Given the description of an element on the screen output the (x, y) to click on. 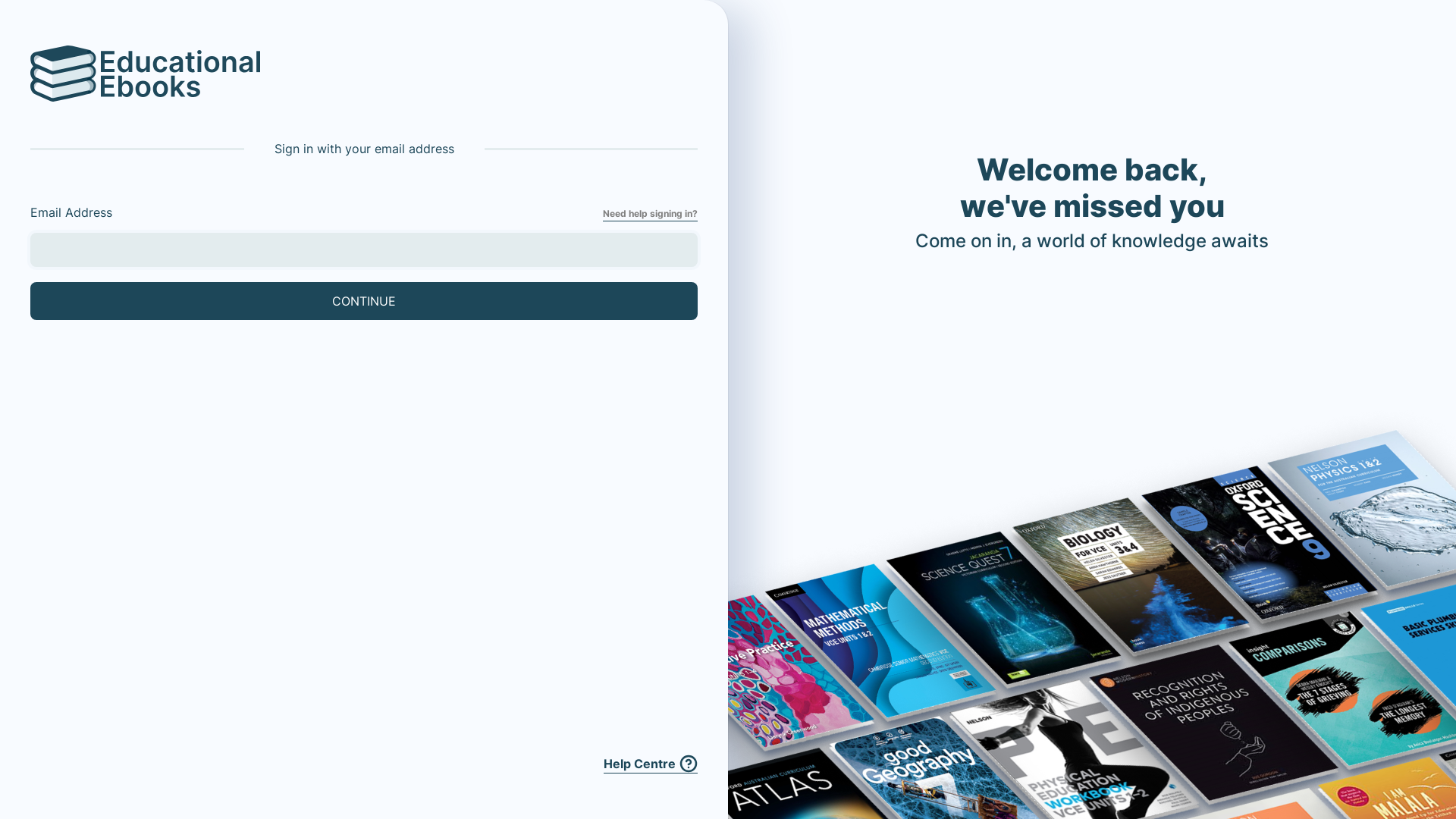
Help Centre Element type: text (650, 763)
Need help signing in? Element type: text (649, 214)
CONTINUE Element type: text (363, 301)
